Given the description of an element on the screen output the (x, y) to click on. 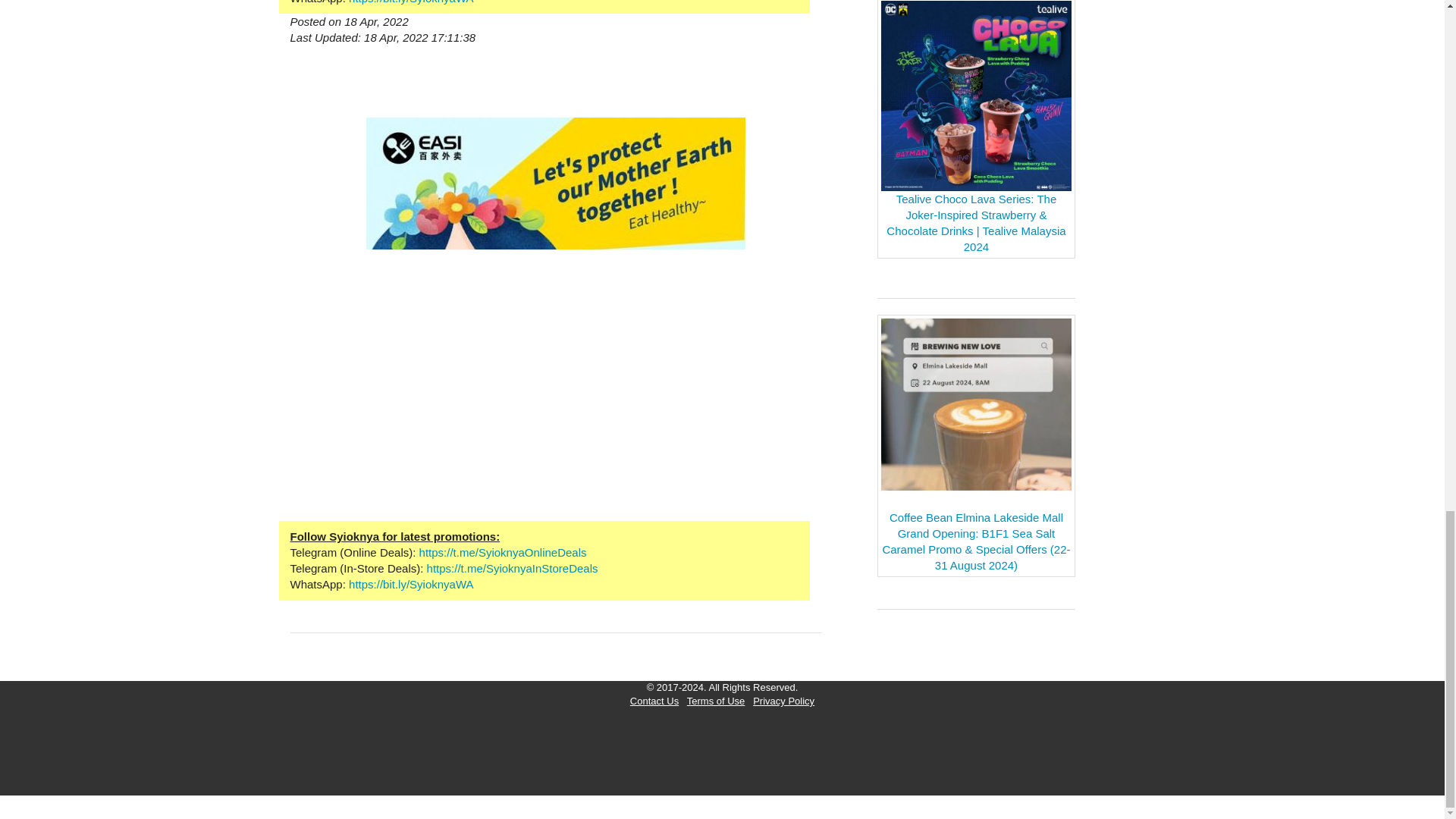
Syioknya Online Deals (502, 552)
Syioknya WhatsApp Channel (411, 584)
Syioknya In-Store Deals (512, 567)
Privacy Policy (782, 700)
Syioknya WhatsApp Channel (411, 2)
Contact Us (654, 700)
Terms of Use (716, 700)
